Given the description of an element on the screen output the (x, y) to click on. 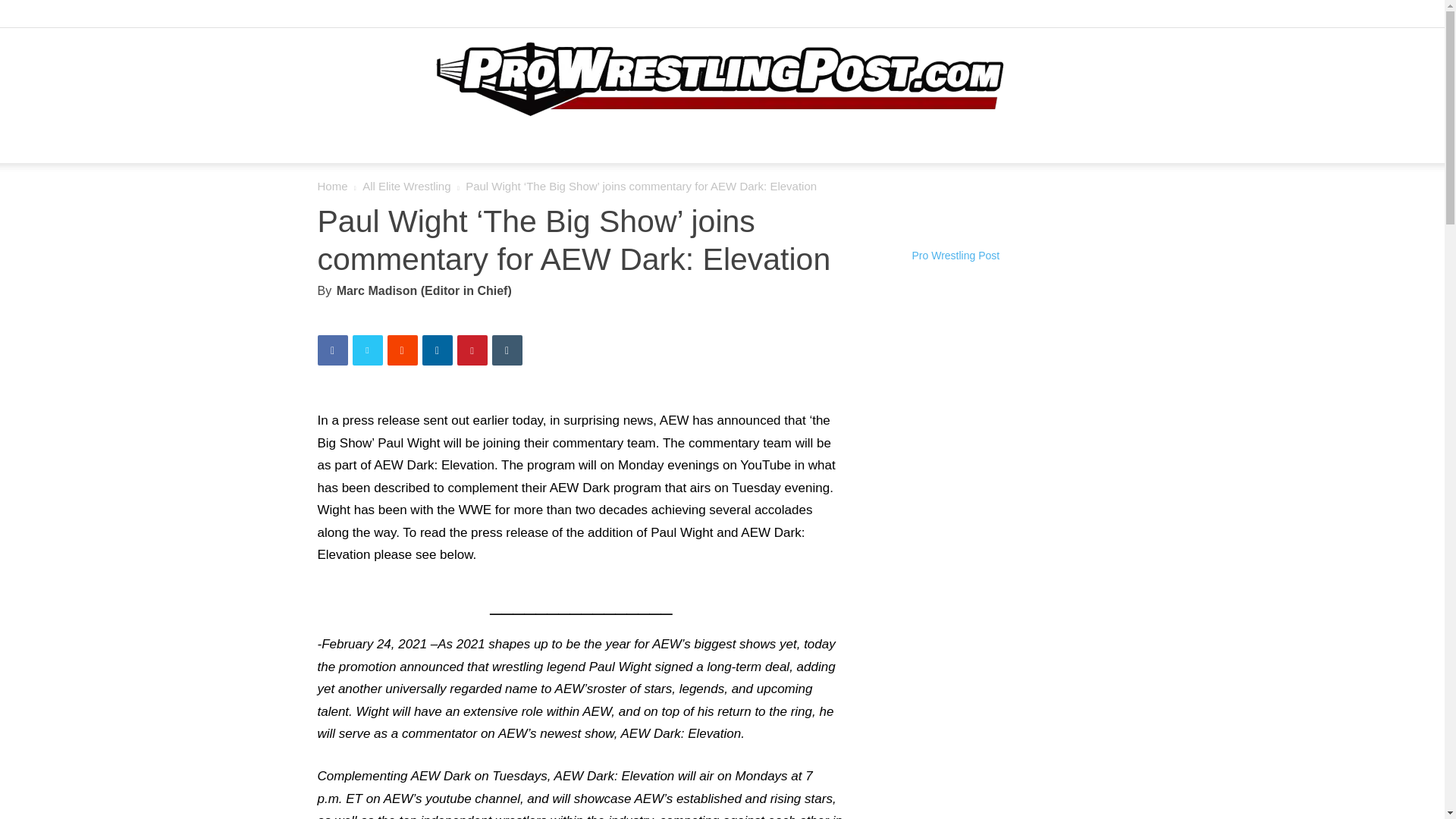
Twitter (1140, 16)
View all posts in All Elite Wrestling (405, 185)
Instagram (1114, 16)
Facebook (1090, 16)
Youtube (1165, 16)
